Given the description of an element on the screen output the (x, y) to click on. 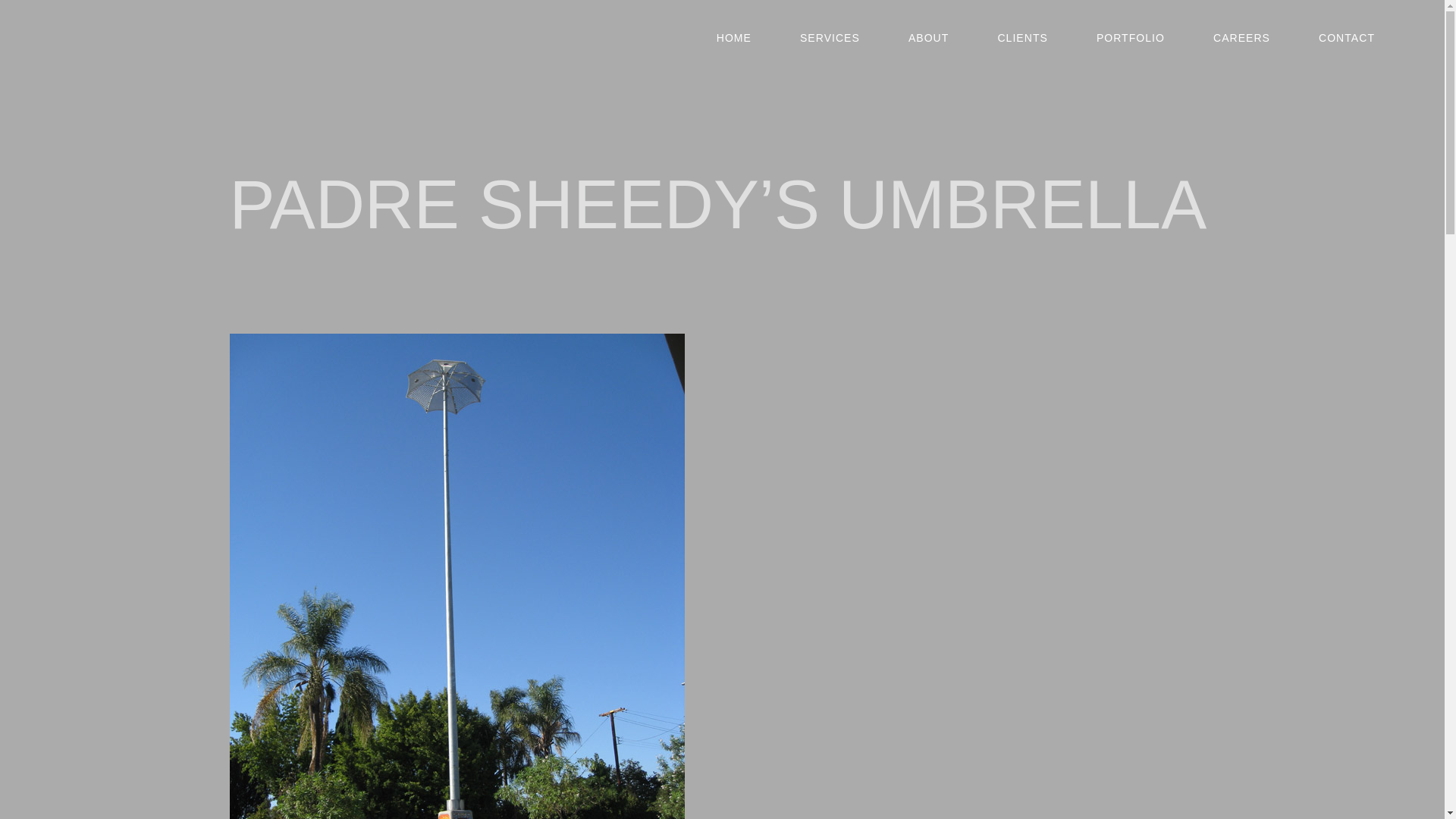
PORTFOLIO (1130, 38)
HOME (734, 38)
CAREERS (1241, 38)
CLIENTS (1021, 38)
CONTACT (1346, 38)
ABOUT (927, 38)
SERVICES (829, 38)
